Given the description of an element on the screen output the (x, y) to click on. 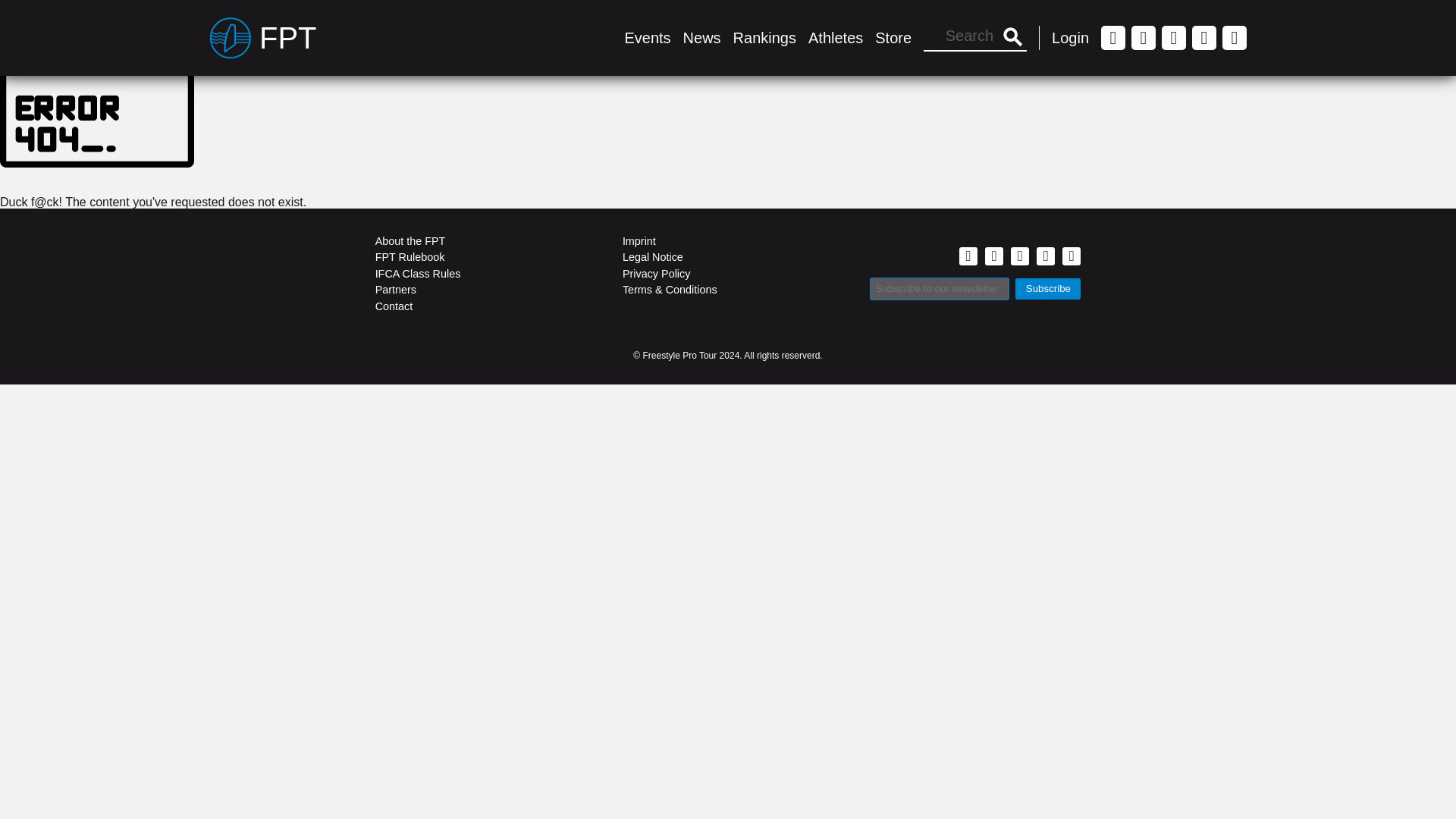
Rankings (764, 37)
Imprint (727, 240)
Partners (480, 289)
Contact (480, 306)
Events (646, 37)
FPT (263, 37)
News (701, 37)
Privacy Policy (727, 273)
About the FPT (480, 240)
Legal Notice (727, 257)
